Given the description of an element on the screen output the (x, y) to click on. 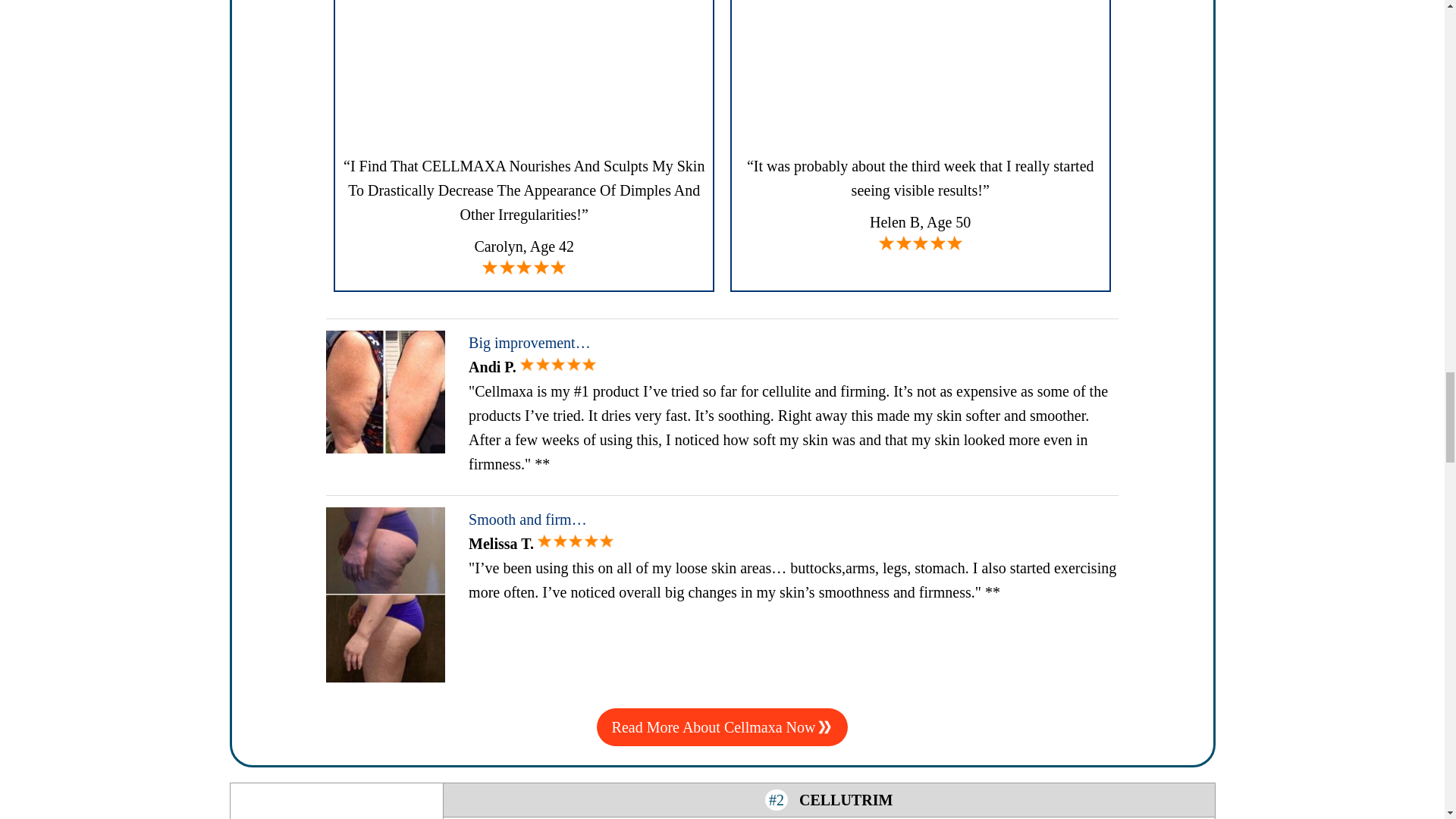
Read More About Cellmaxa Now (722, 727)
